Given the description of an element on the screen output the (x, y) to click on. 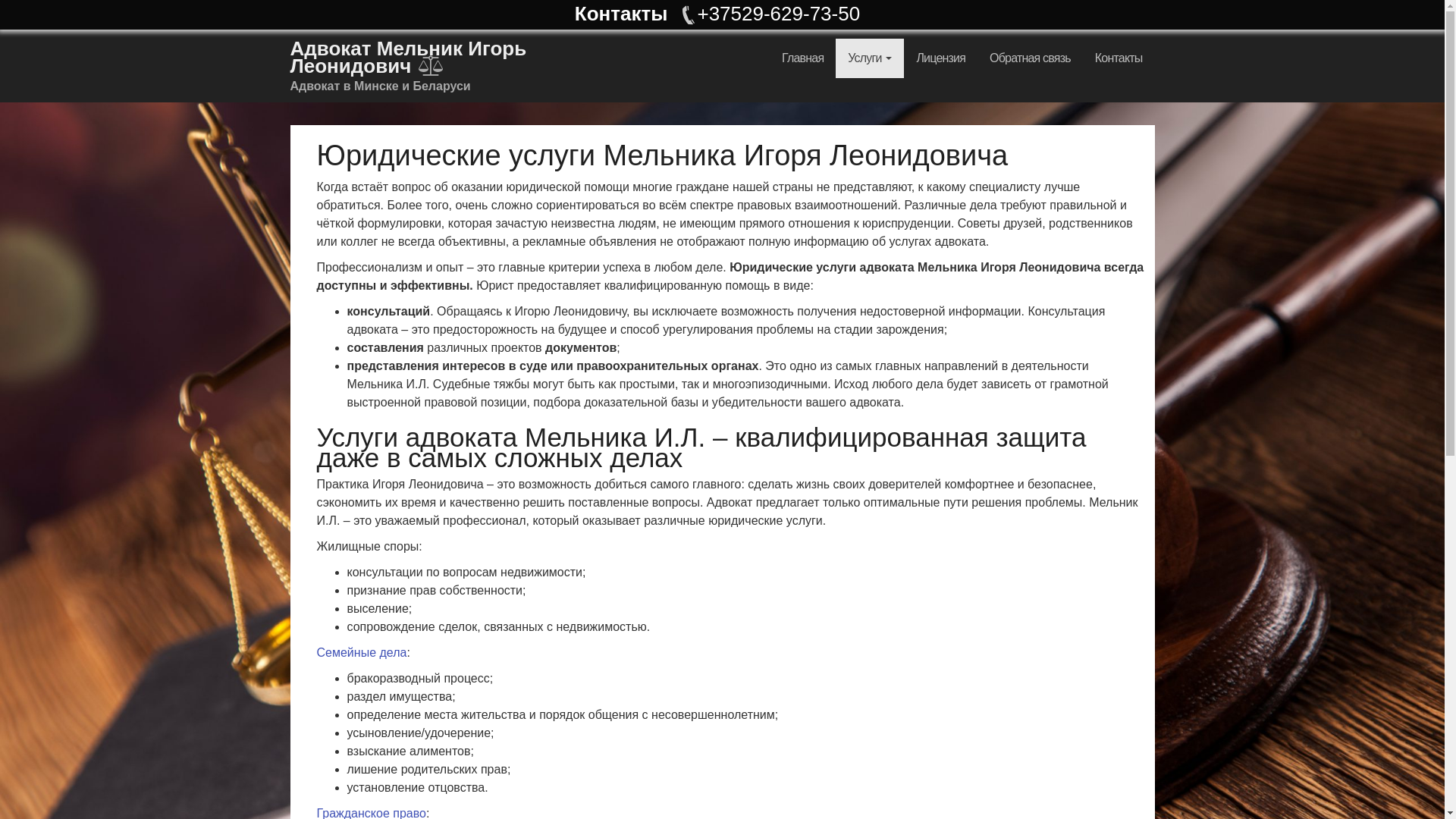
+37529-629-73-50 Element type: text (768, 13)
